Given the description of an element on the screen output the (x, y) to click on. 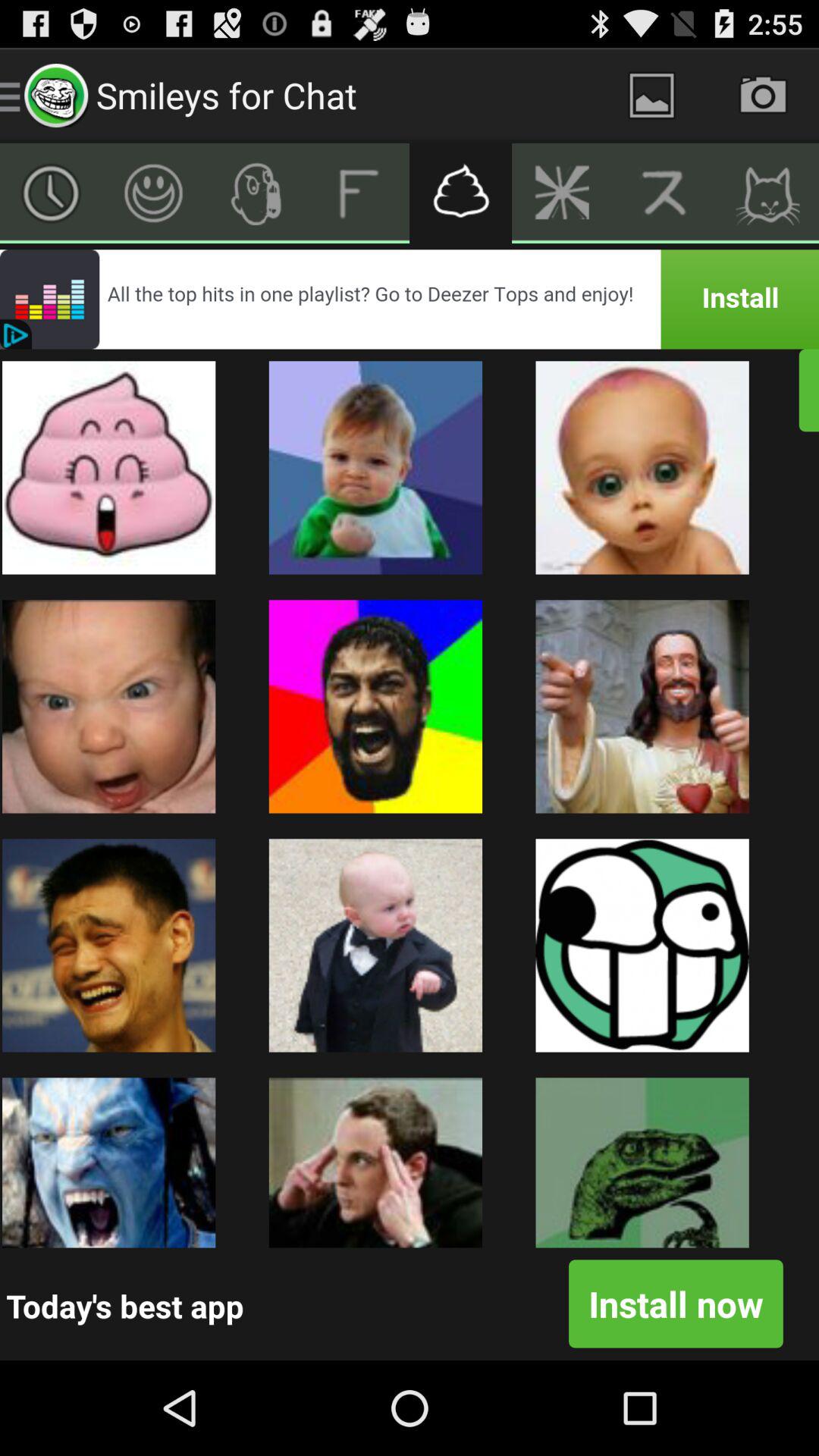
go to clock screen (51, 193)
